Given the description of an element on the screen output the (x, y) to click on. 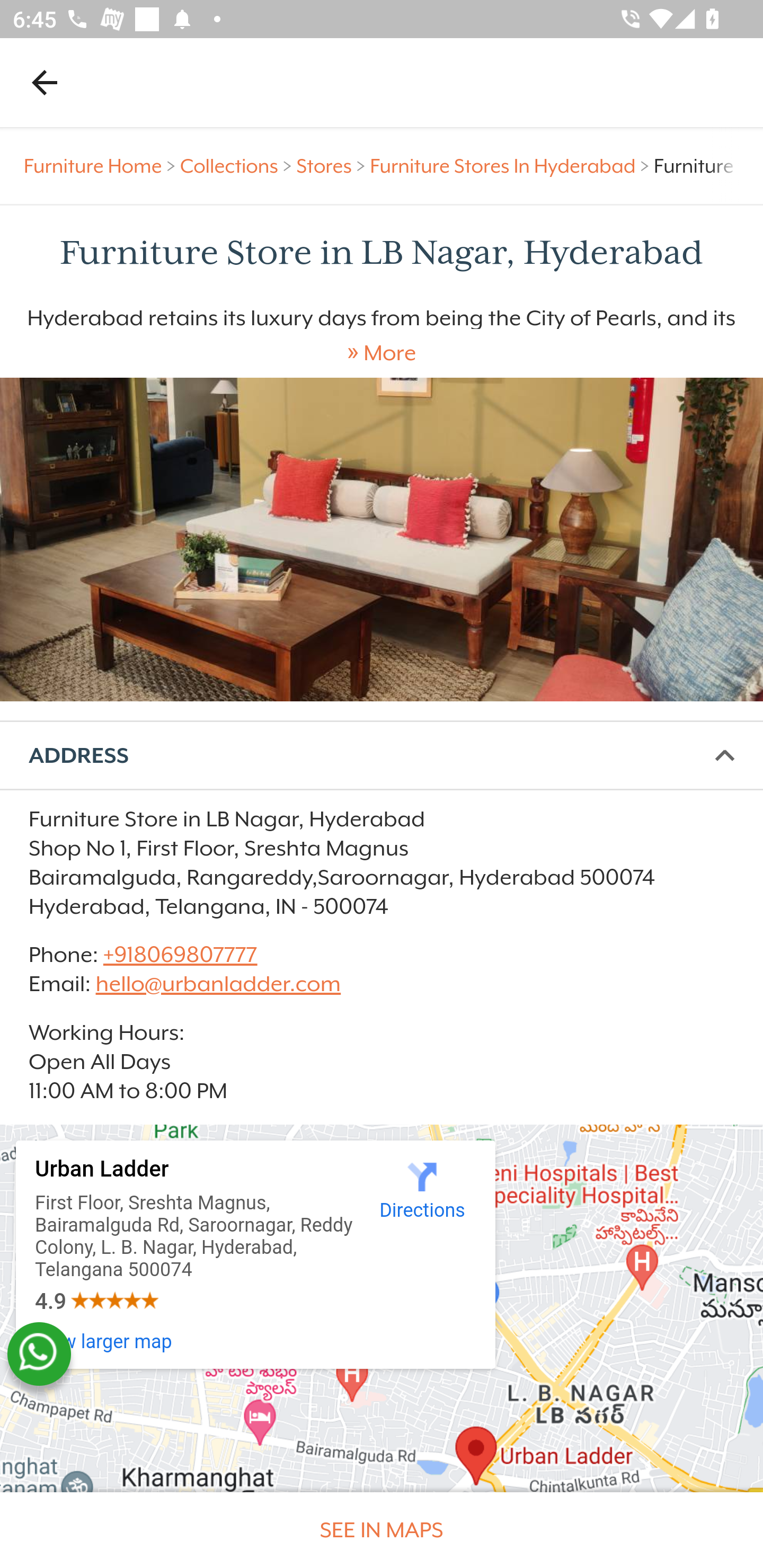
Navigate up (44, 82)
Furniture Home >  Furniture Home  >  (102, 165)
Collections >  Collections  >  (238, 165)
Stores >  Stores  >  (333, 165)
» More (381, 353)
Experience Centre (381, 539)
ADDRESS (381, 756)
+918069807777 (179, 953)
hello@urbanladder.com (218, 983)
whatsapp (38, 1353)
View larger map (104, 1341)
SEE IN MAPS (381, 1530)
